Given the description of an element on the screen output the (x, y) to click on. 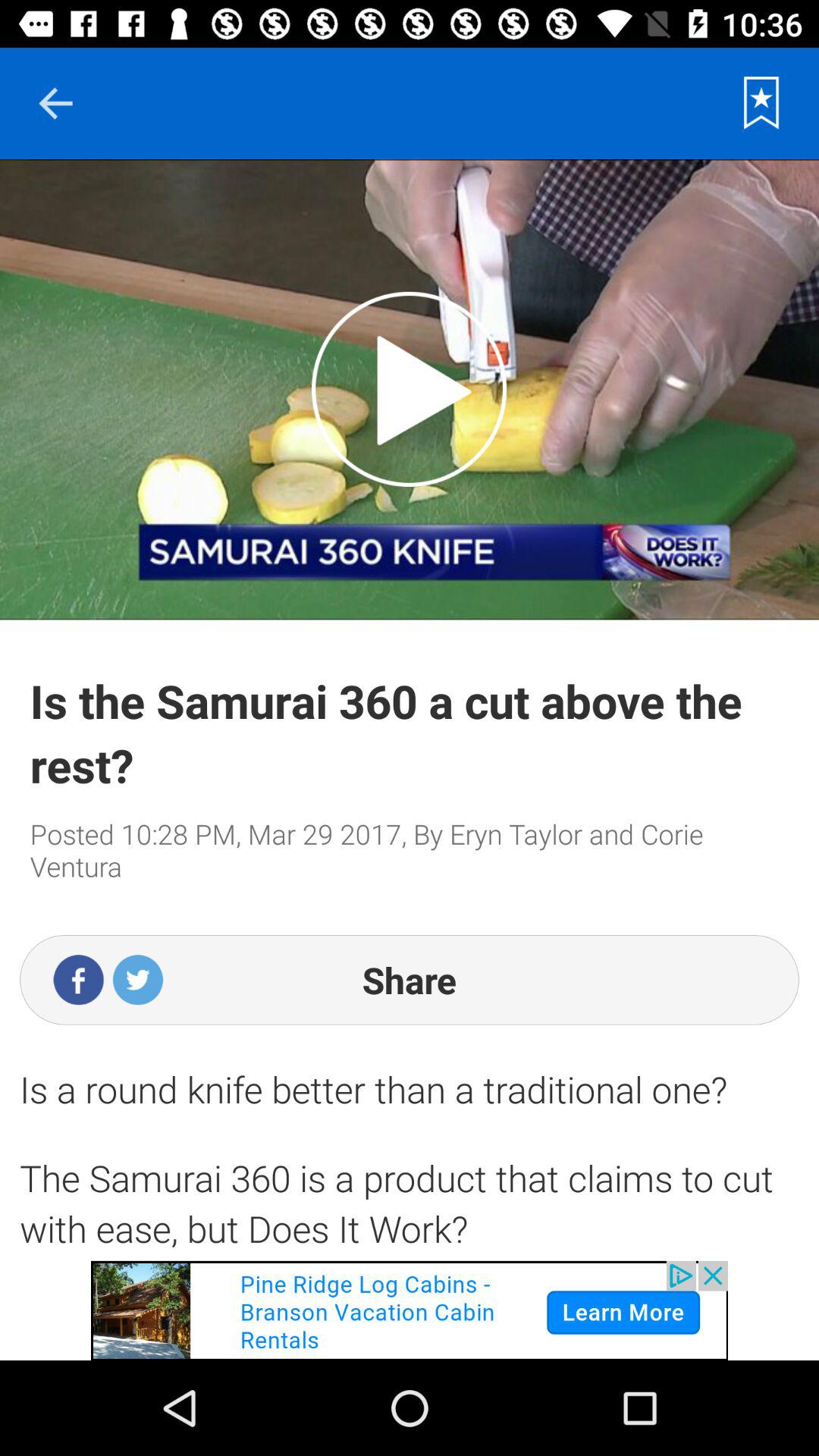
go to advertisement (409, 1310)
